Given the description of an element on the screen output the (x, y) to click on. 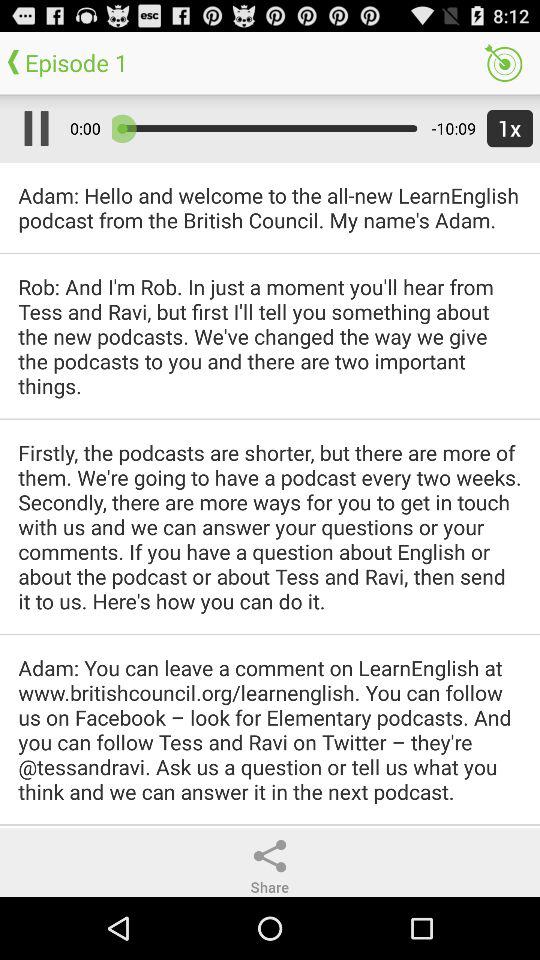
tap the item above adam hello and app (32, 128)
